Given the description of an element on the screen output the (x, y) to click on. 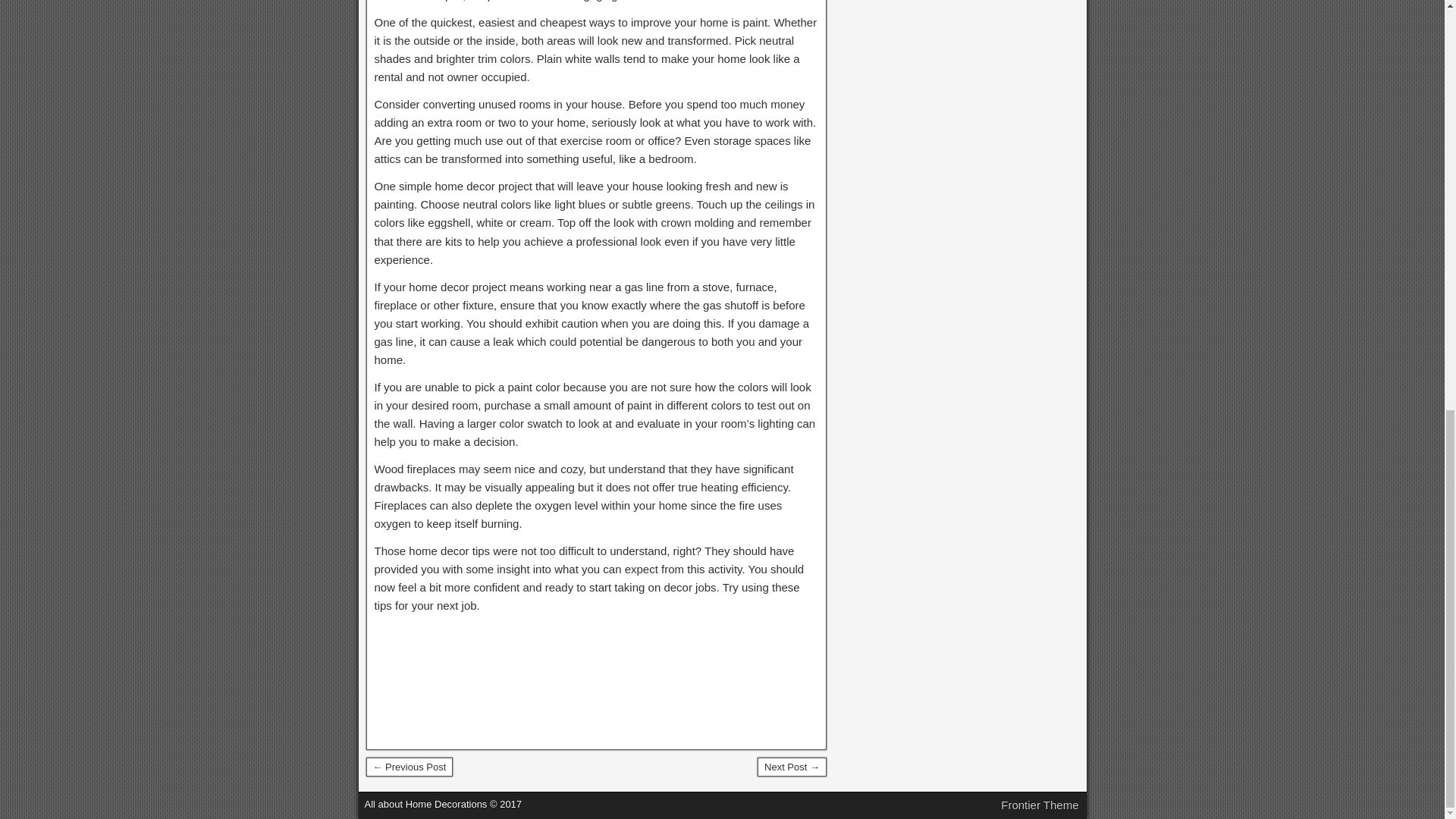
Advertisement (596, 679)
Frontier Theme (1039, 804)
Read These Tips For A DIY Home Improvement Success (408, 767)
Great Ideas For Your DIY Home Improvement Journey (792, 767)
